Given the description of an element on the screen output the (x, y) to click on. 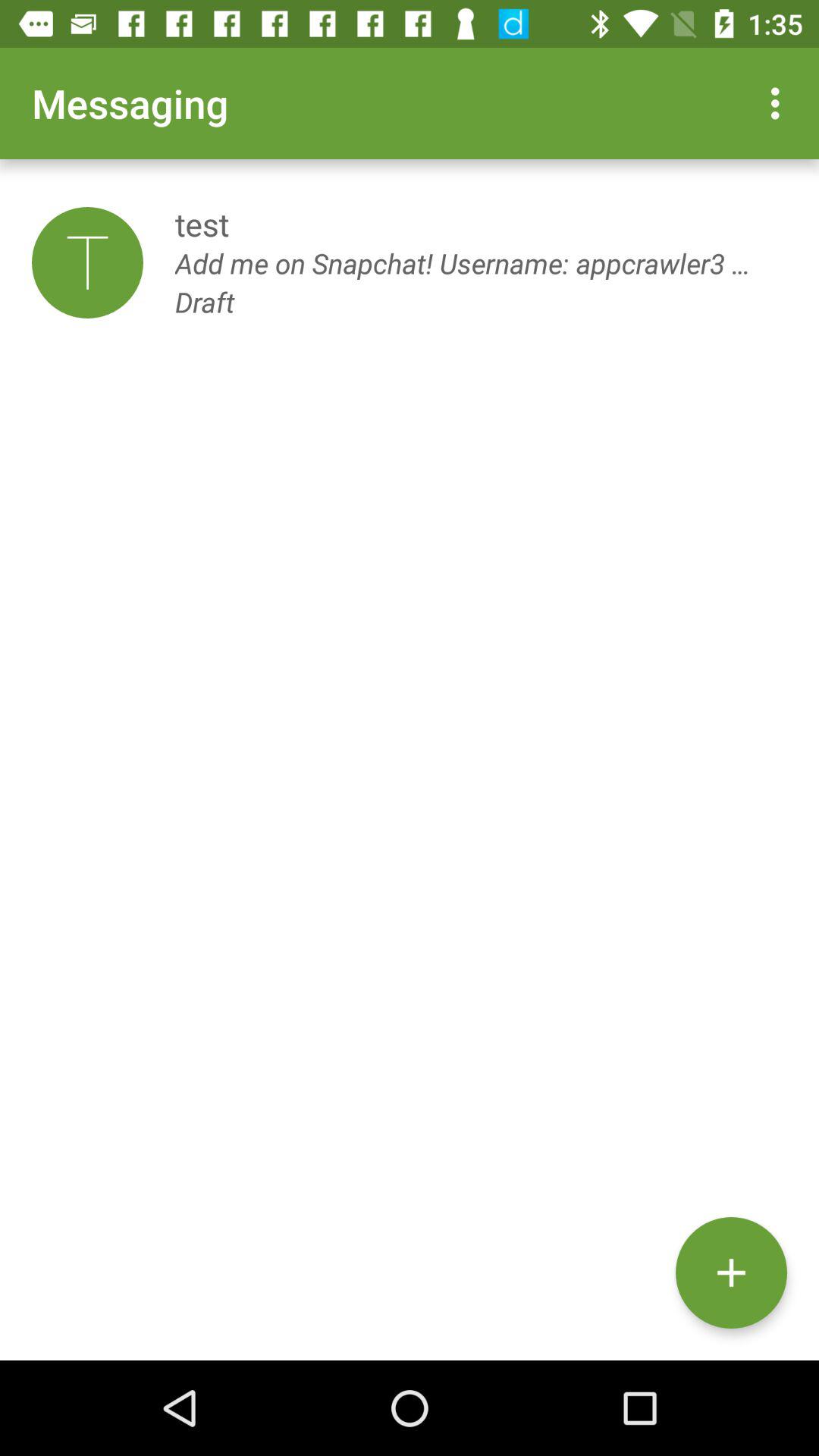
click item below the messaging item (87, 262)
